Given the description of an element on the screen output the (x, y) to click on. 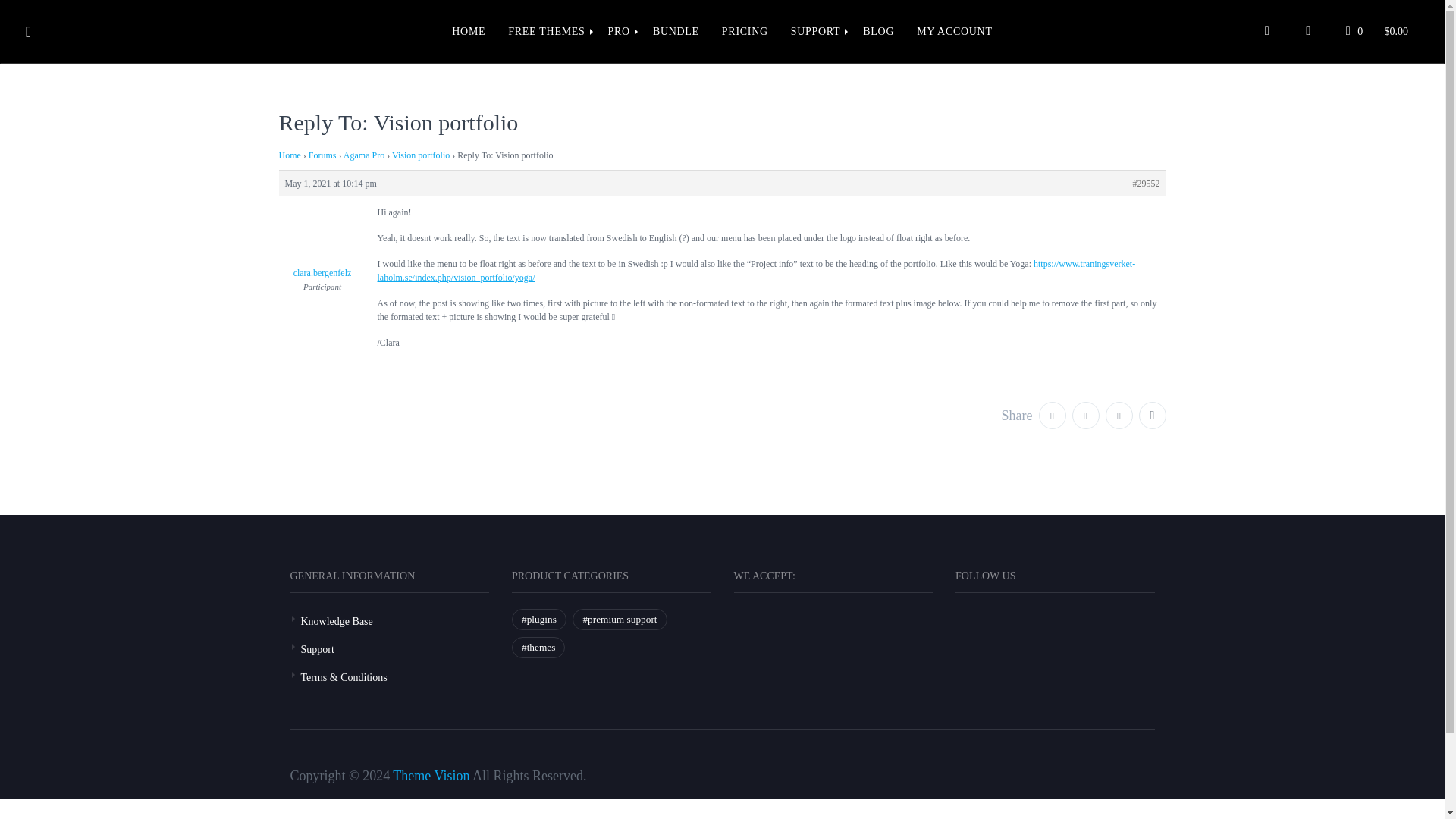
FREE THEMES (545, 31)
View Cart (1377, 31)
View clara.bergenfelz's profile (322, 252)
HOME (468, 31)
